Given the description of an element on the screen output the (x, y) to click on. 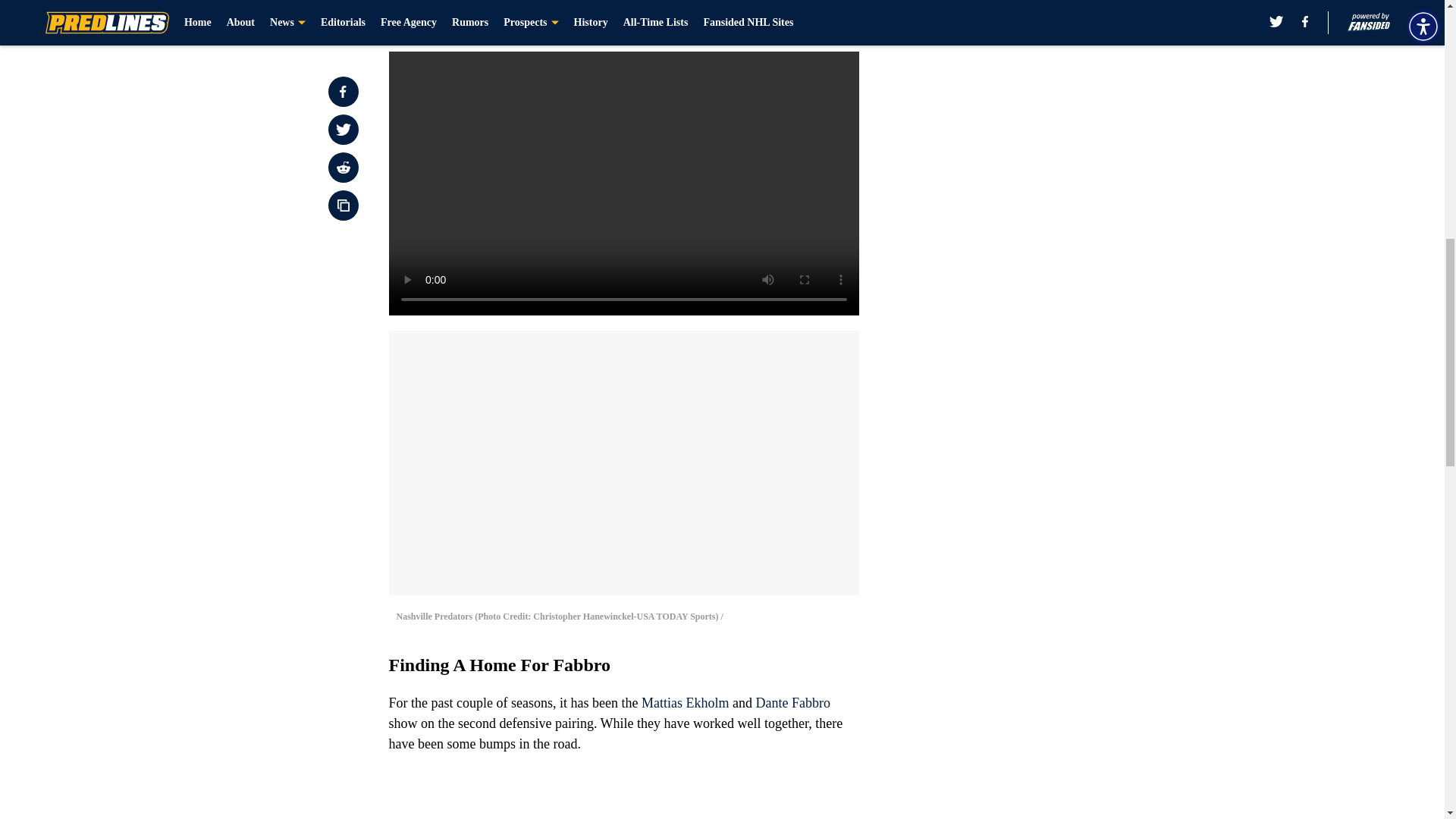
Dante Fabbro (792, 702)
Prev (433, 20)
Next (813, 20)
Mattias Ekholm (685, 702)
